Given the description of an element on the screen output the (x, y) to click on. 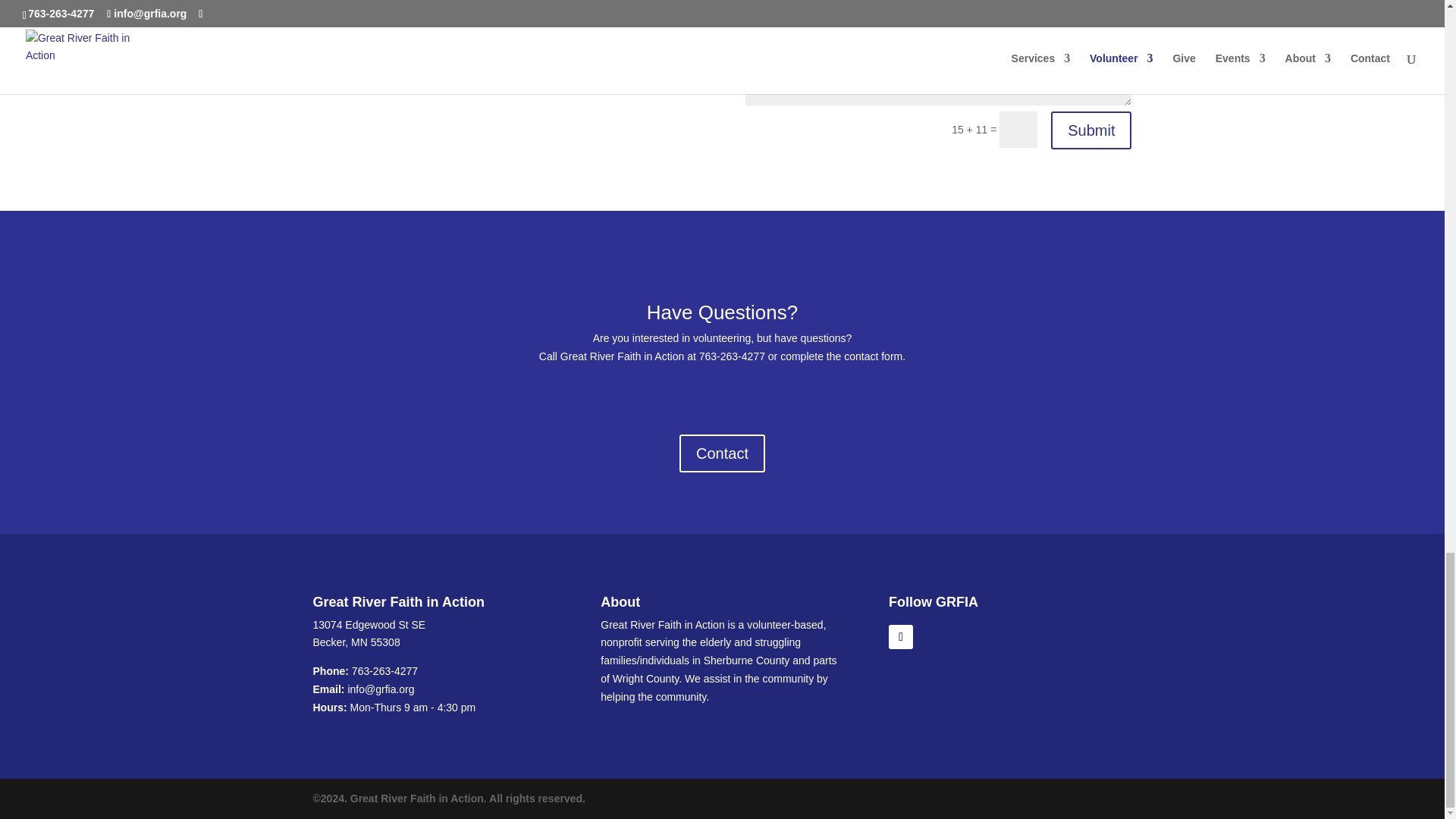
Contact (722, 453)
Follow on Facebook (900, 636)
Submit (1091, 130)
